Given the description of an element on the screen output the (x, y) to click on. 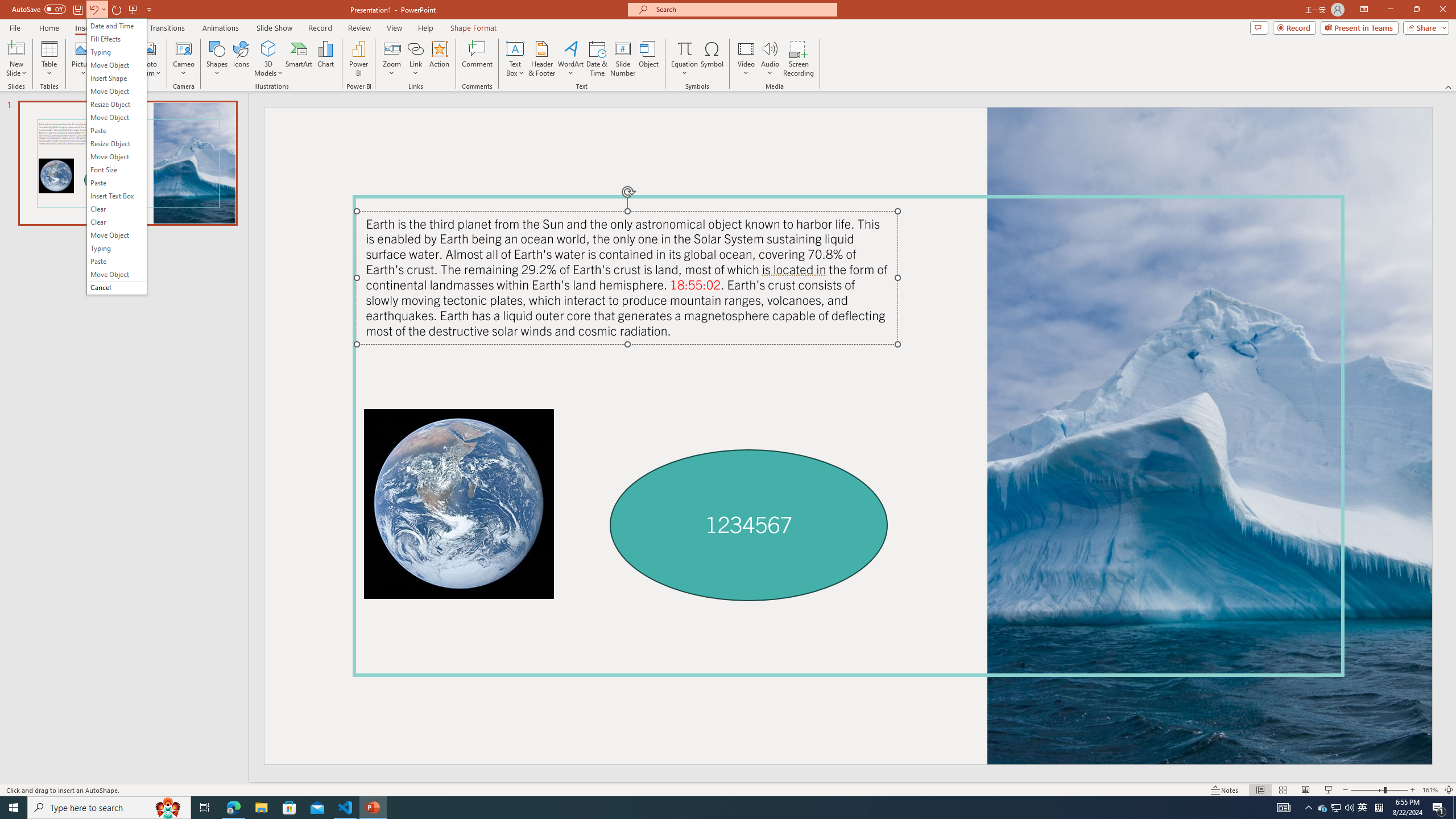
Notification Chevron (1308, 807)
Table (49, 58)
Redo (117, 9)
Screen Recording... (798, 58)
Microsoft Store (289, 807)
Draw Horizontal Text Box (515, 48)
Task View (204, 807)
Icons (240, 58)
Visual Studio Code - 1 running window (345, 807)
Equation (683, 48)
Object... (649, 58)
WordArt (570, 58)
